Given the description of an element on the screen output the (x, y) to click on. 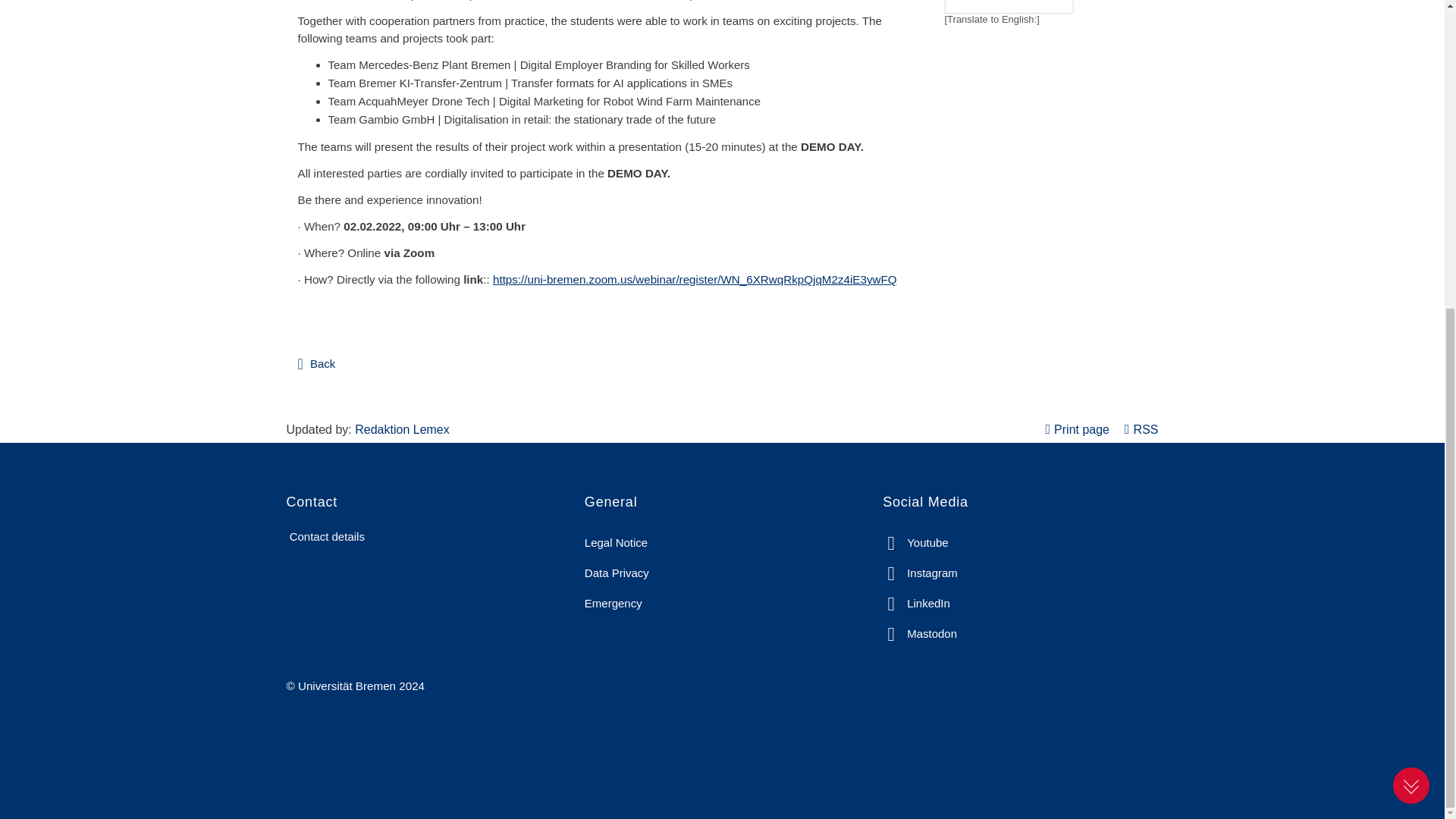
Open link to Mastodon in a new window (919, 633)
Scroll to the bottom of the page (1411, 297)
Open link to Linked In in a new window (916, 603)
Seite als RSS Feed (1140, 429)
Open link to Instagram in a new window (920, 572)
